Given the description of an element on the screen output the (x, y) to click on. 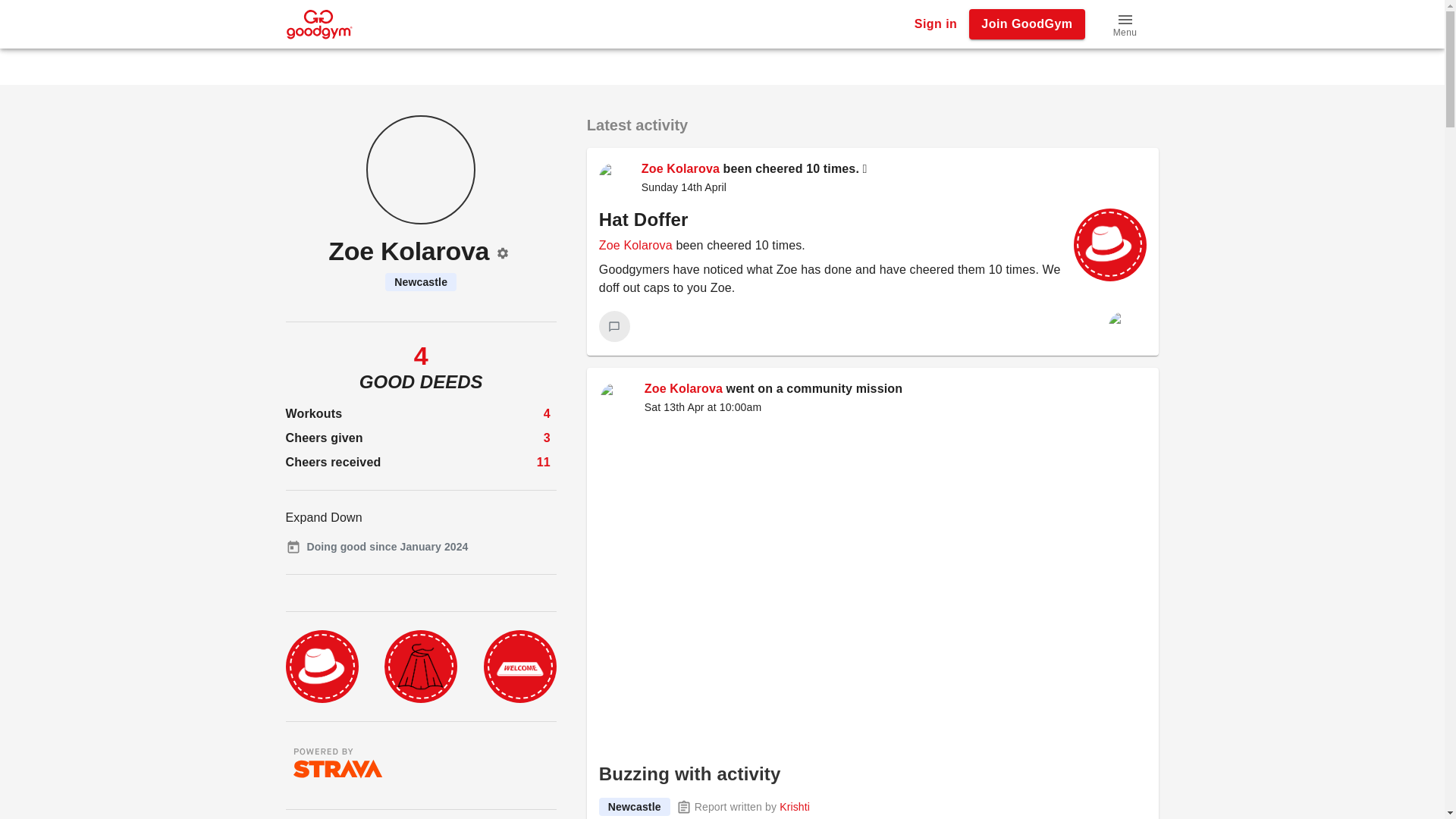
Sign in (935, 24)
Zoe Kolarova (680, 168)
Menu (1124, 24)
Newcastle (633, 806)
Buzzing with activity (689, 773)
Zoe Kolarova (635, 245)
Newcastle (421, 281)
Got it! (16, 26)
Learn more (540, 8)
Join GoodGym (1026, 24)
Krishti (793, 806)
Zoe Kolarova (683, 388)
